Given the description of an element on the screen output the (x, y) to click on. 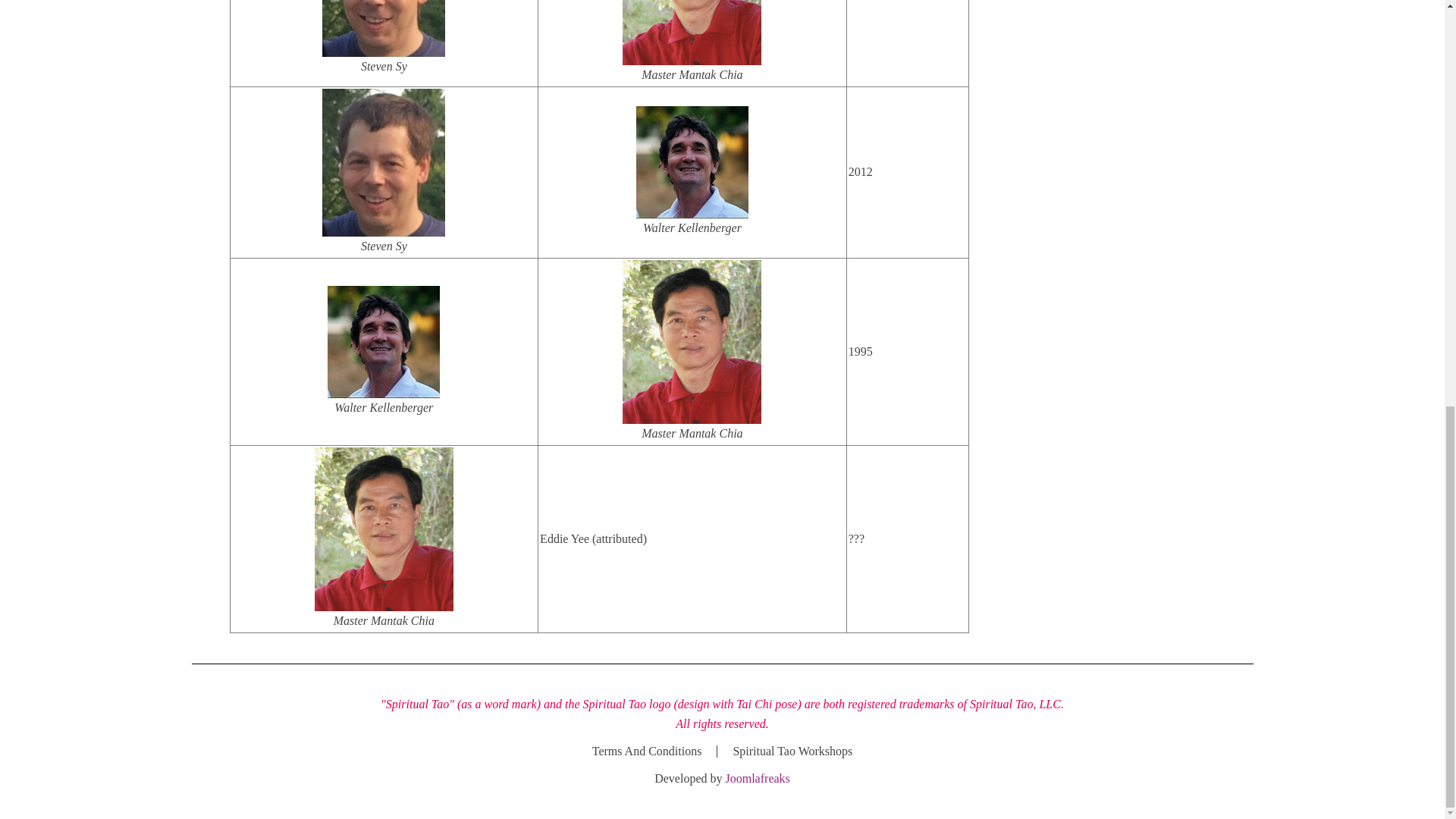
Spiritual Tao Workshops (791, 751)
Terms And Conditions (646, 751)
Joomlafreaks (757, 778)
